Given the description of an element on the screen output the (x, y) to click on. 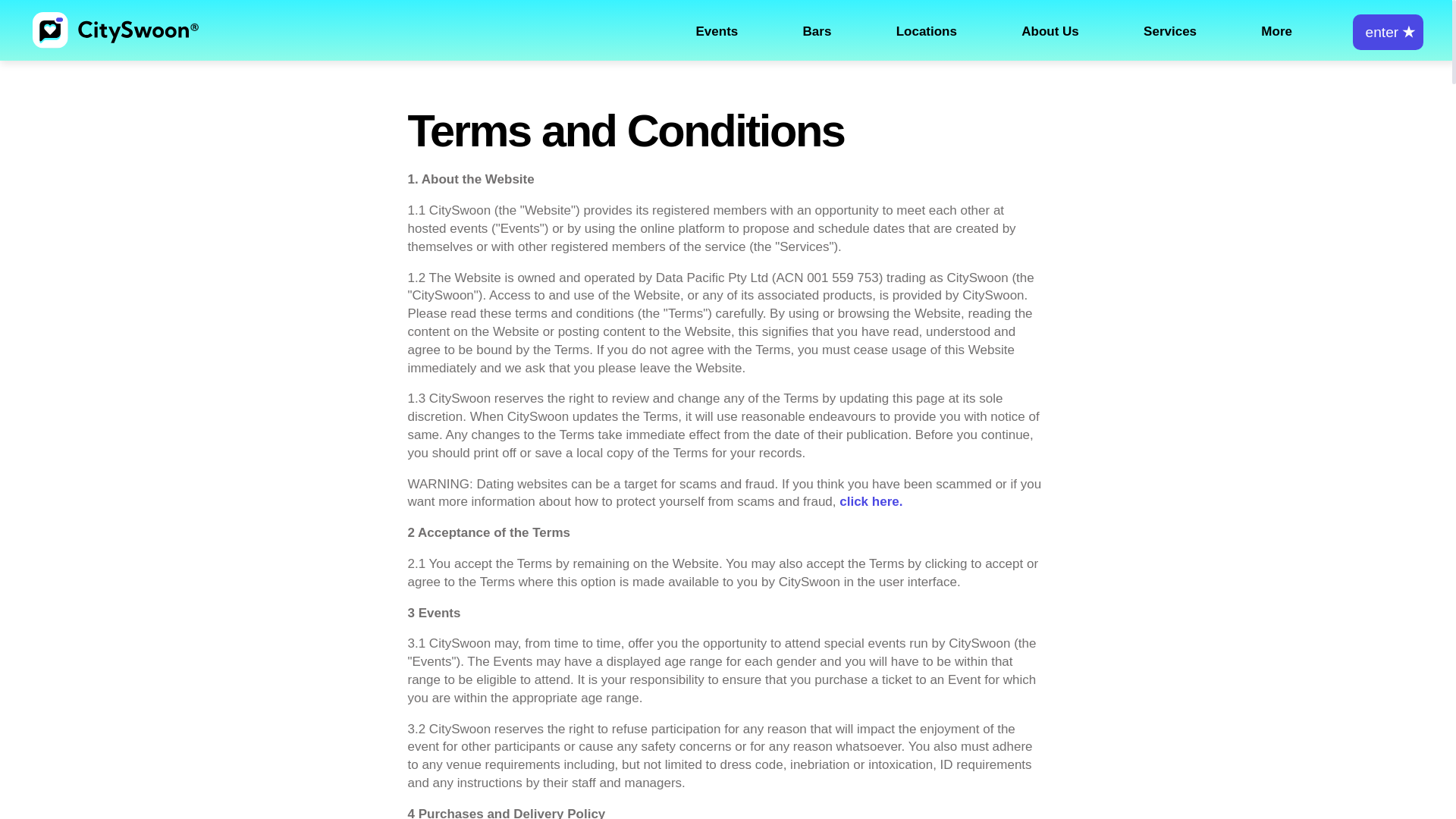
Services (1169, 31)
Bars (817, 31)
More (1276, 31)
Events (716, 31)
About Us (1050, 31)
Locations (926, 31)
click here. (871, 501)
